Given the description of an element on the screen output the (x, y) to click on. 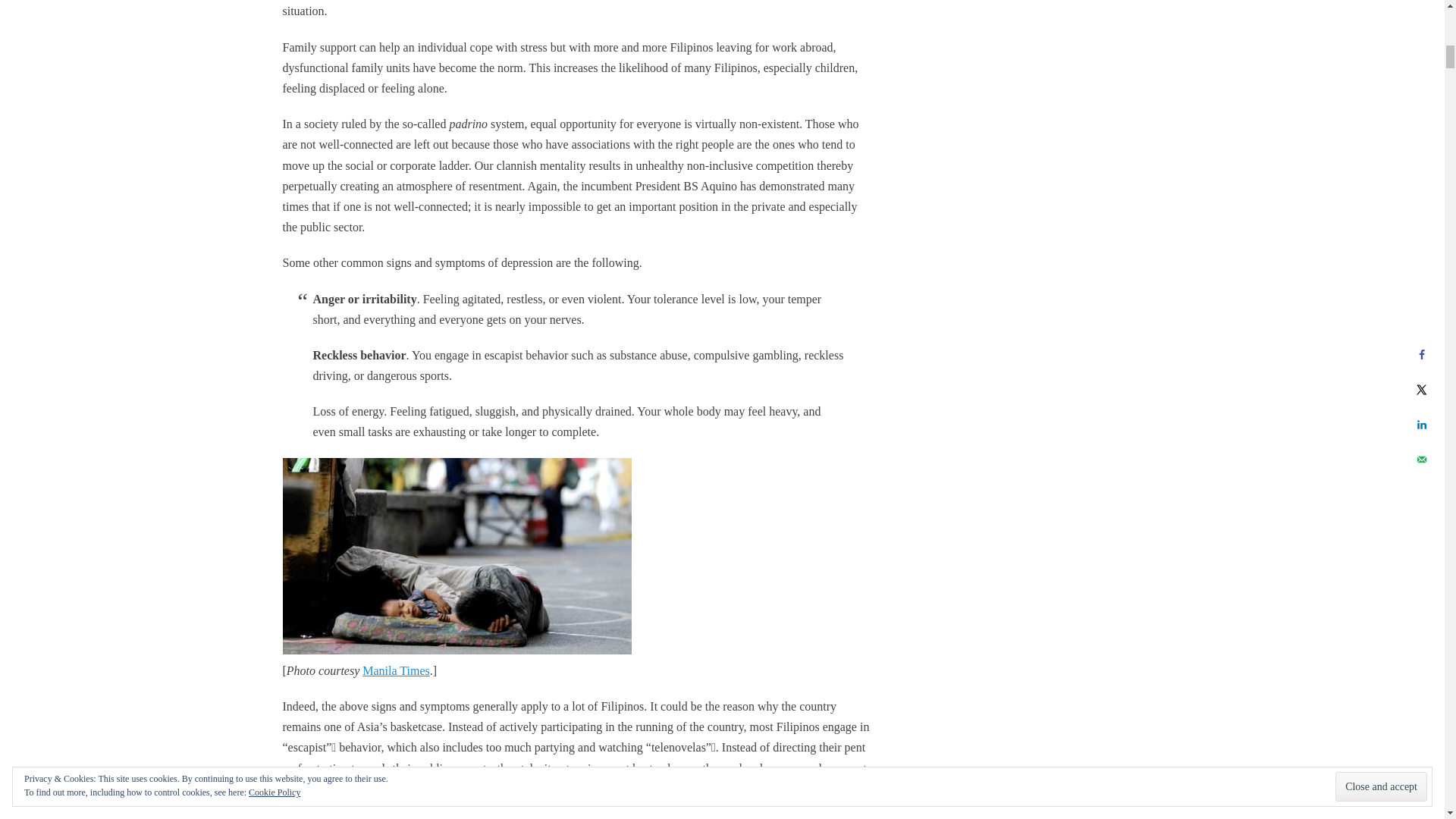
Manila Times (395, 670)
